Given the description of an element on the screen output the (x, y) to click on. 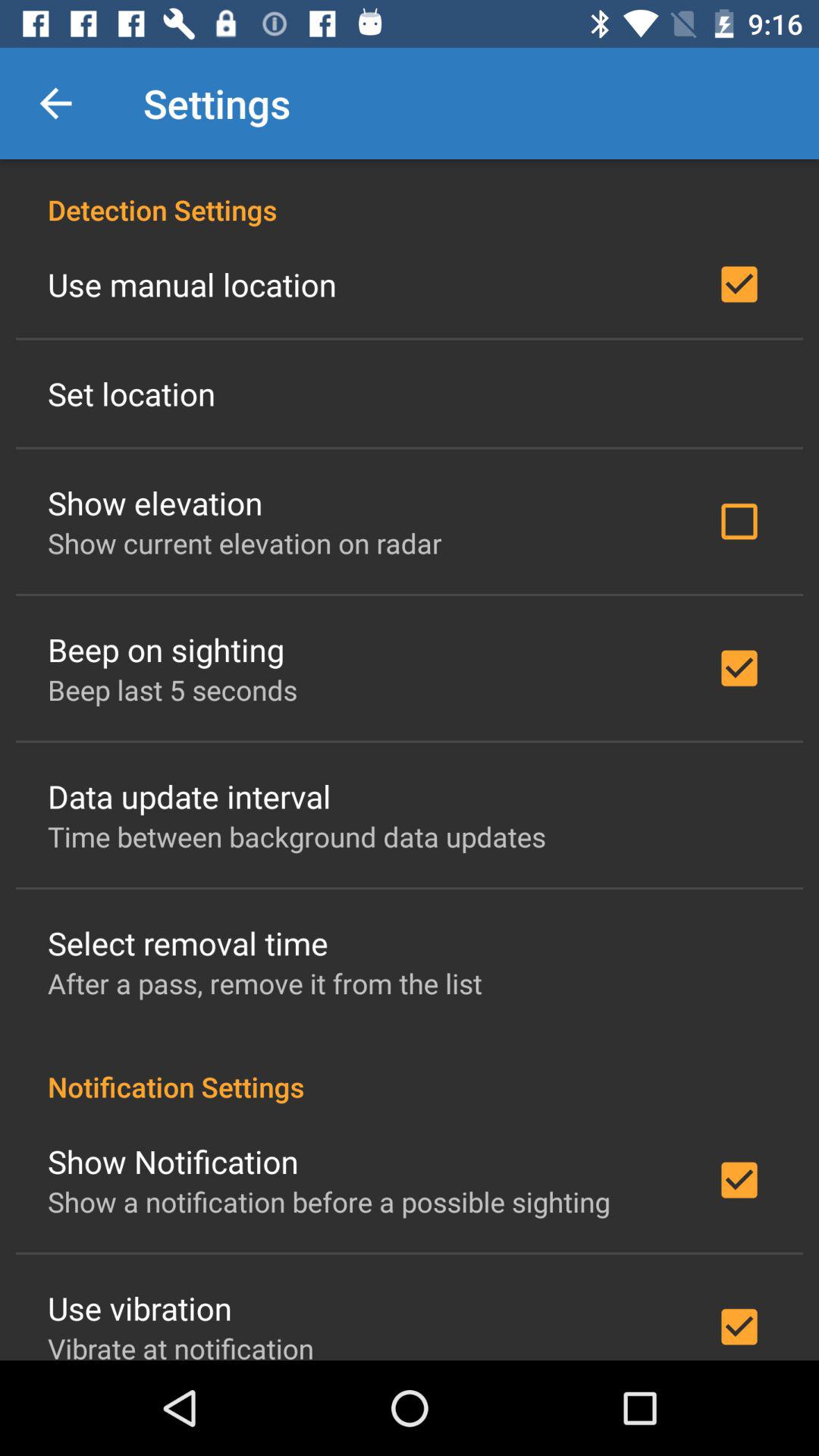
select the vibrate at notification icon (180, 1344)
